Given the description of an element on the screen output the (x, y) to click on. 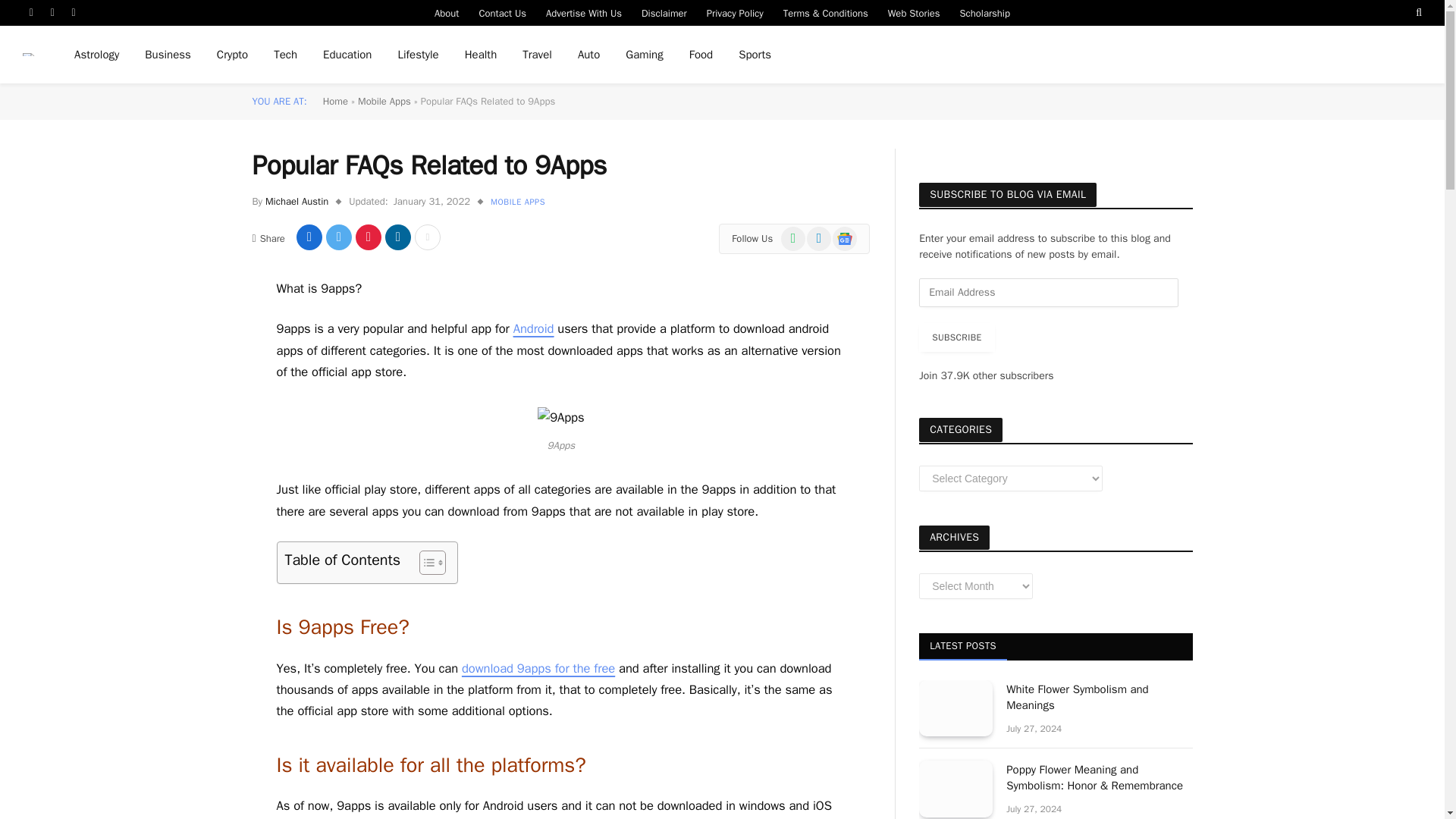
Business (167, 54)
Contact Us (501, 12)
Scholarship (985, 12)
Education (347, 54)
Crypto (231, 54)
9Apps Android (560, 417)
Advertise With Us (583, 12)
Share on LinkedIn (397, 237)
Health (481, 54)
About (446, 12)
Astrology (96, 54)
Lifestyle (417, 54)
Gaming (643, 54)
Web Stories (913, 12)
Disclaimer (664, 12)
